Given the description of an element on the screen output the (x, y) to click on. 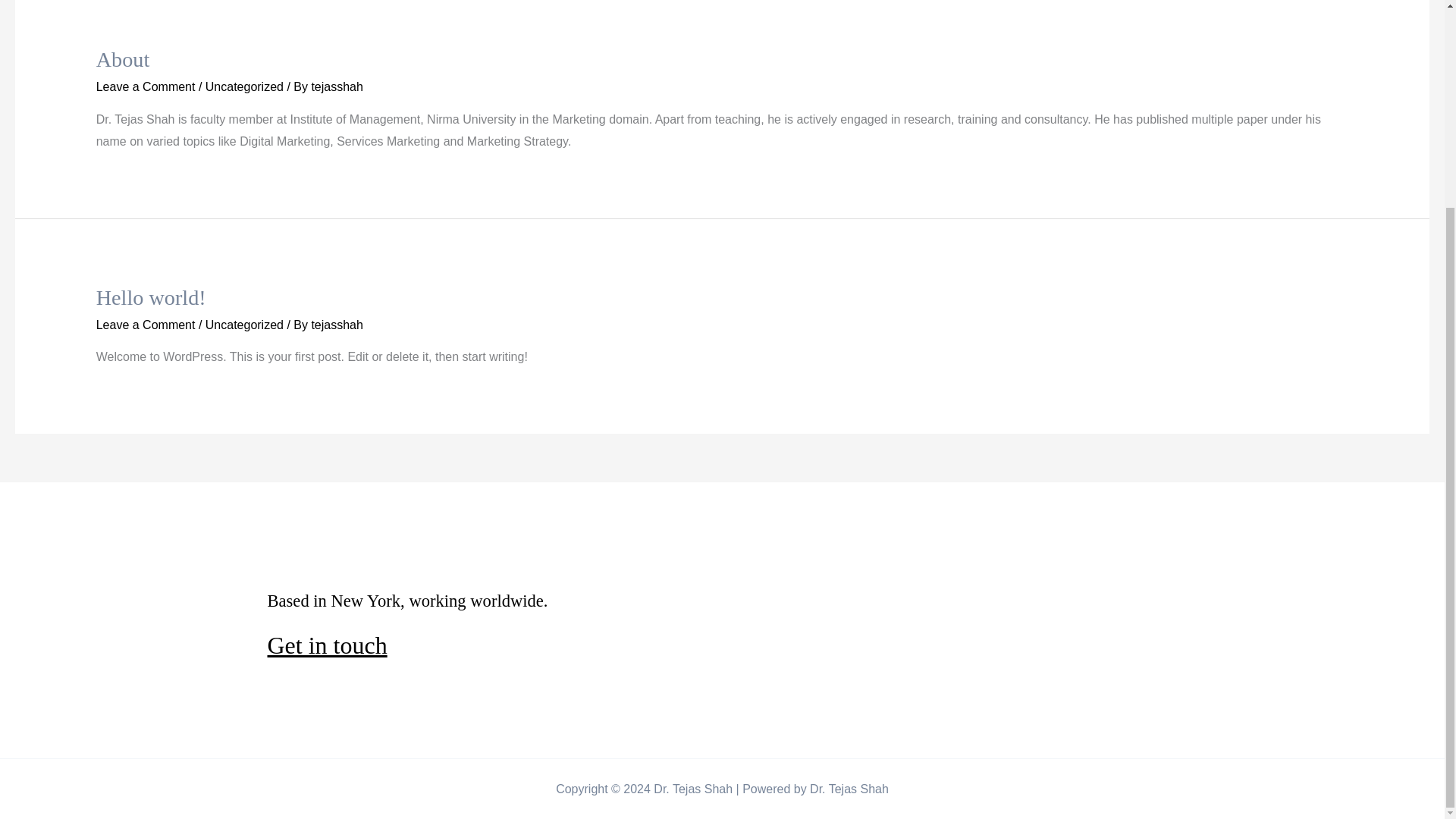
Leave a Comment (145, 324)
Uncategorized (244, 324)
tejasshah (336, 324)
Hello world! (151, 297)
About (122, 59)
Uncategorized (244, 86)
Leave a Comment (145, 86)
View all posts by tejasshah (336, 86)
Get in touch (326, 645)
View all posts by tejasshah (336, 324)
